Given the description of an element on the screen output the (x, y) to click on. 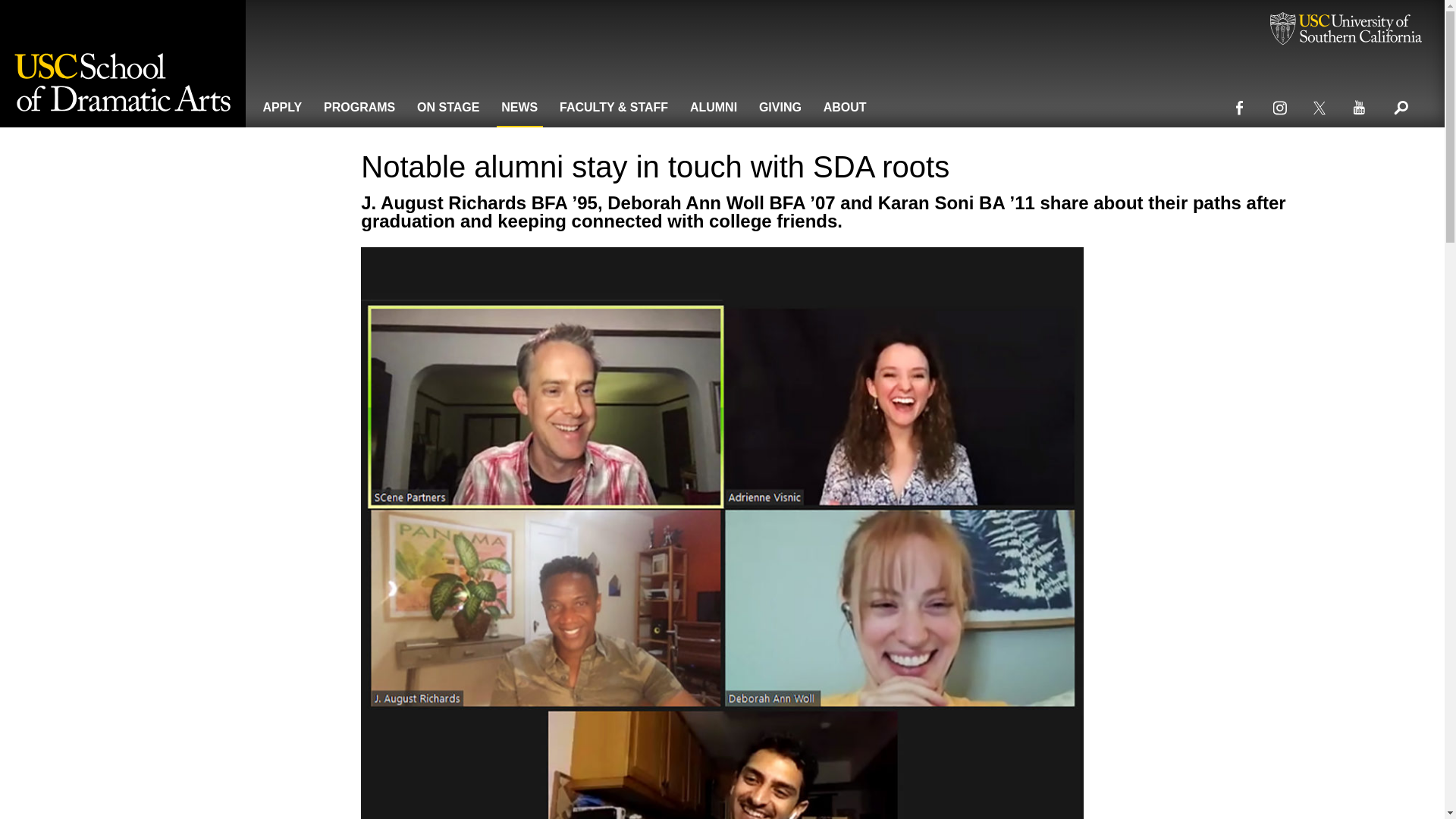
PROGRAMS (359, 104)
School of Dramatic Arts (123, 63)
APPLY (282, 104)
ALUMNI (713, 104)
ABOUT (844, 104)
University of Southern California (1345, 30)
NEWS (519, 104)
ON STAGE (448, 104)
GIVING (780, 104)
